Given the description of an element on the screen output the (x, y) to click on. 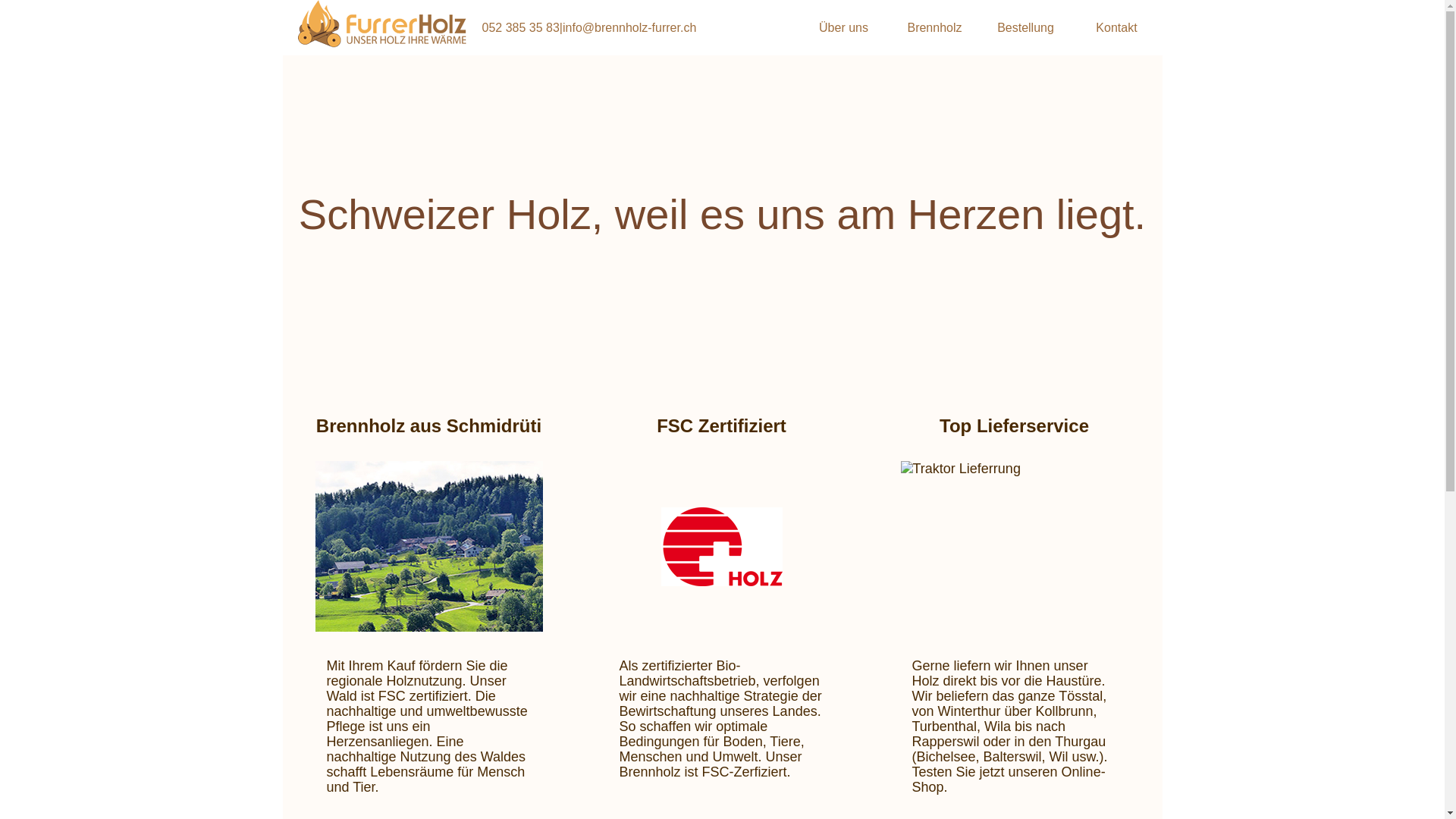
Bestellung Element type: text (1025, 27)
Brennholz Element type: text (933, 27)
052 385 35 83|info@brennholz-furrer.ch Element type: text (589, 27)
Kontakt Element type: text (1115, 27)
